Given the description of an element on the screen output the (x, y) to click on. 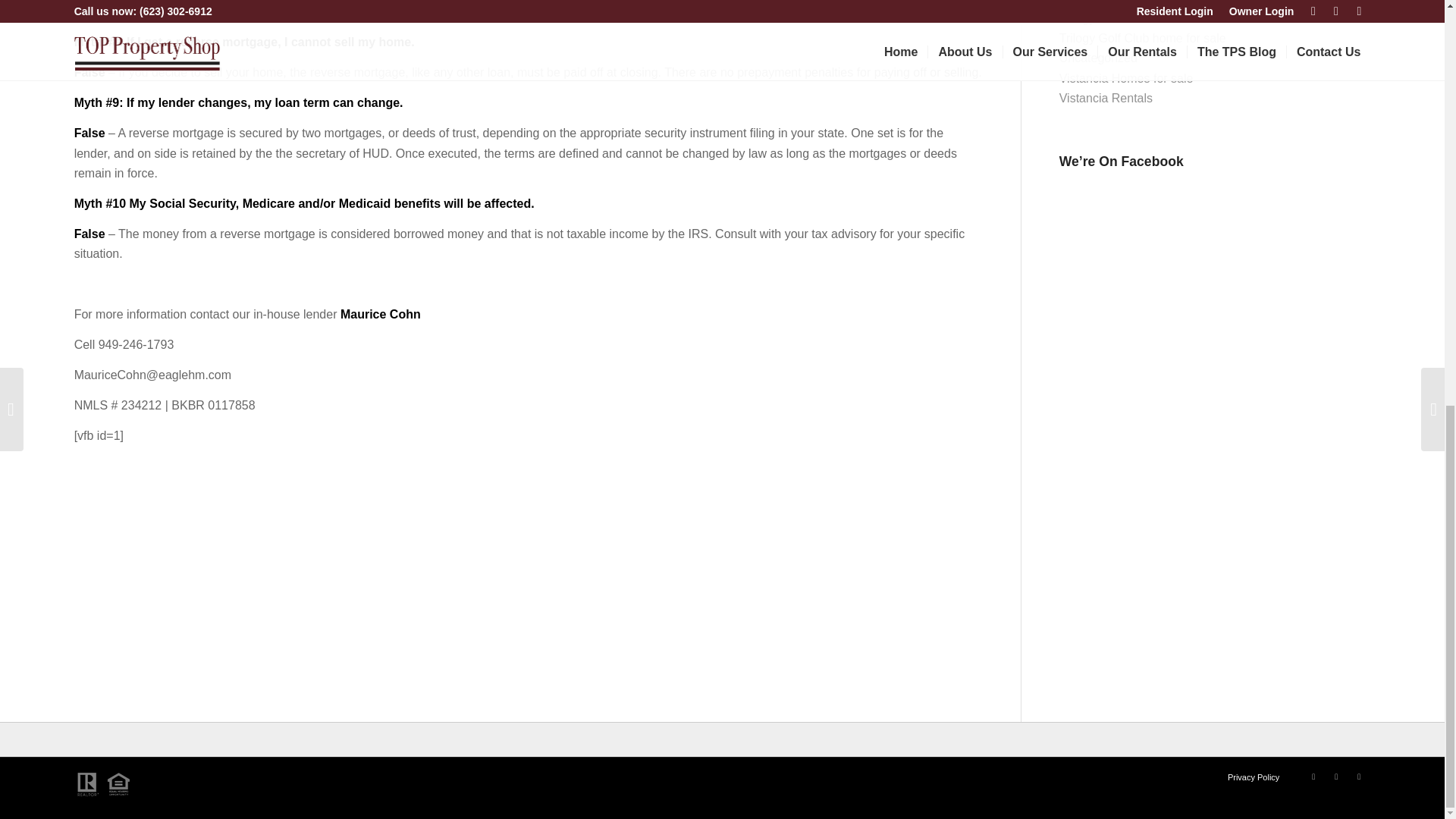
Facebook (1312, 775)
Youtube (1359, 775)
LinkedIn (1336, 775)
